Given the description of an element on the screen output the (x, y) to click on. 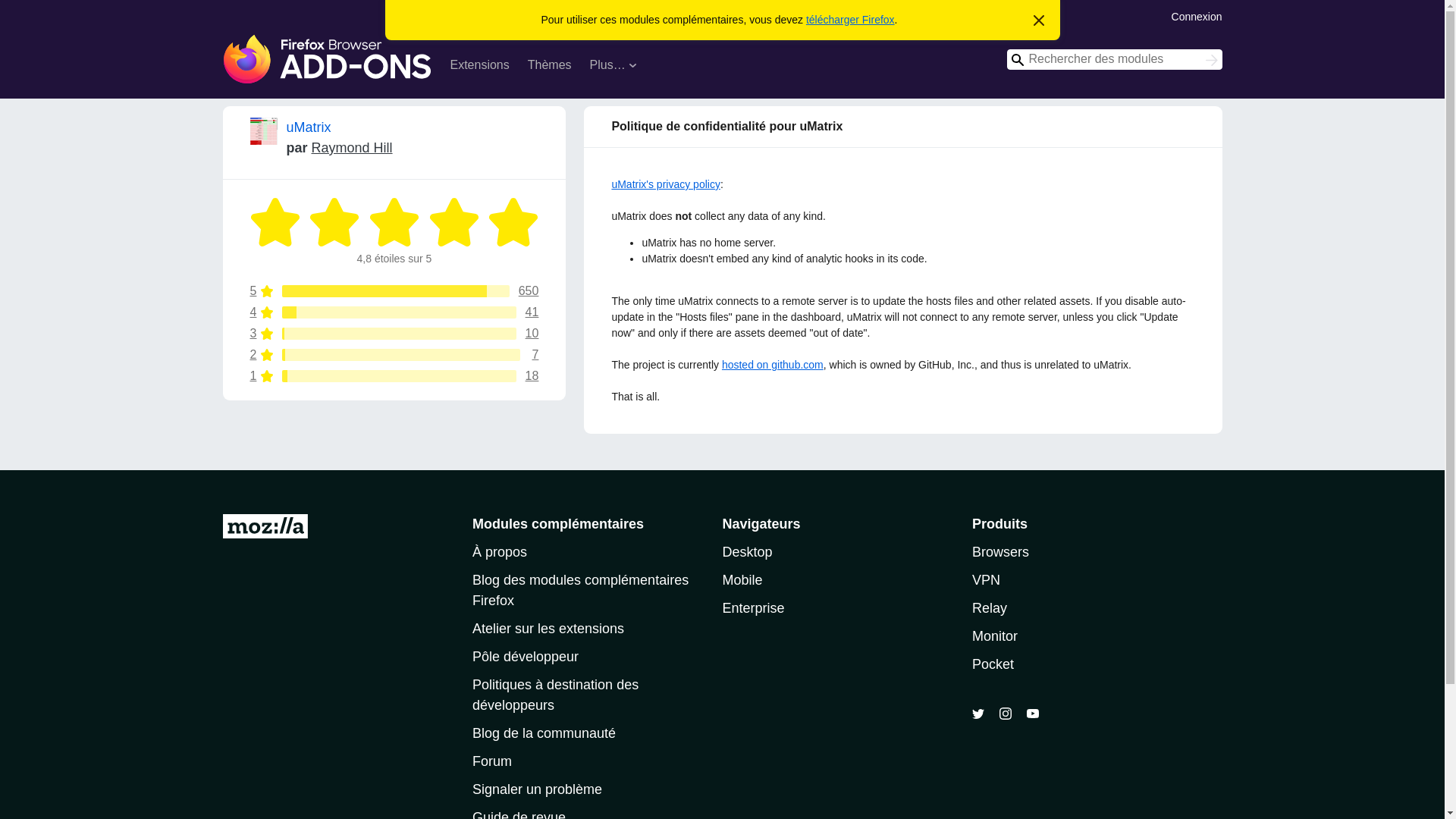
Rechercher (394, 312)
Desktop (1212, 61)
Forum (746, 551)
VPN (491, 761)
Extensions (394, 354)
Pocket (986, 580)
Enterprise (479, 66)
